Given the description of an element on the screen output the (x, y) to click on. 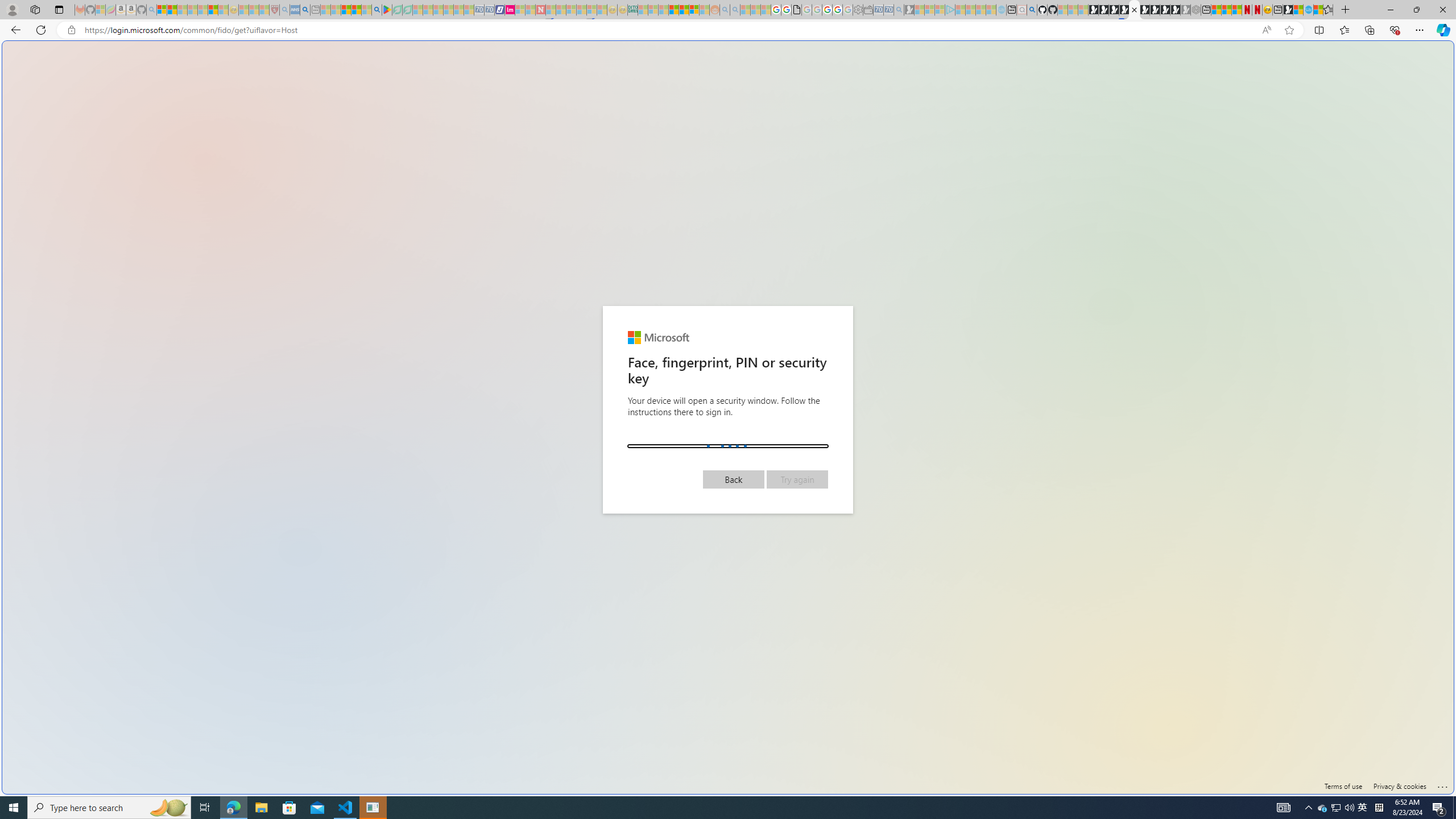
Organization background image (727, 416)
Latest Politics News & Archive | Newsweek.com - Sleeping (539, 9)
Expert Portfolios (673, 9)
MSN (1287, 9)
